Given the description of an element on the screen output the (x, y) to click on. 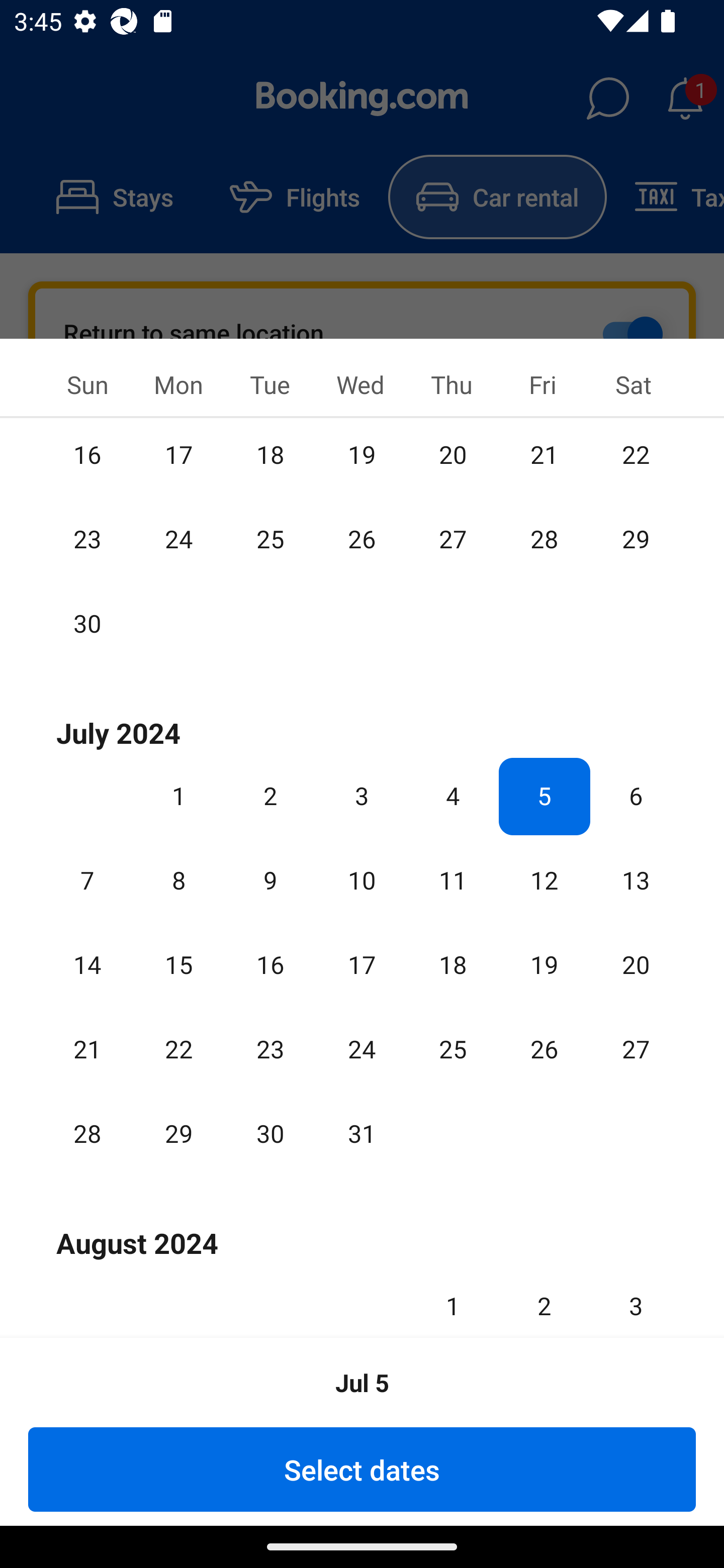
Select dates (361, 1468)
